Given the description of an element on the screen output the (x, y) to click on. 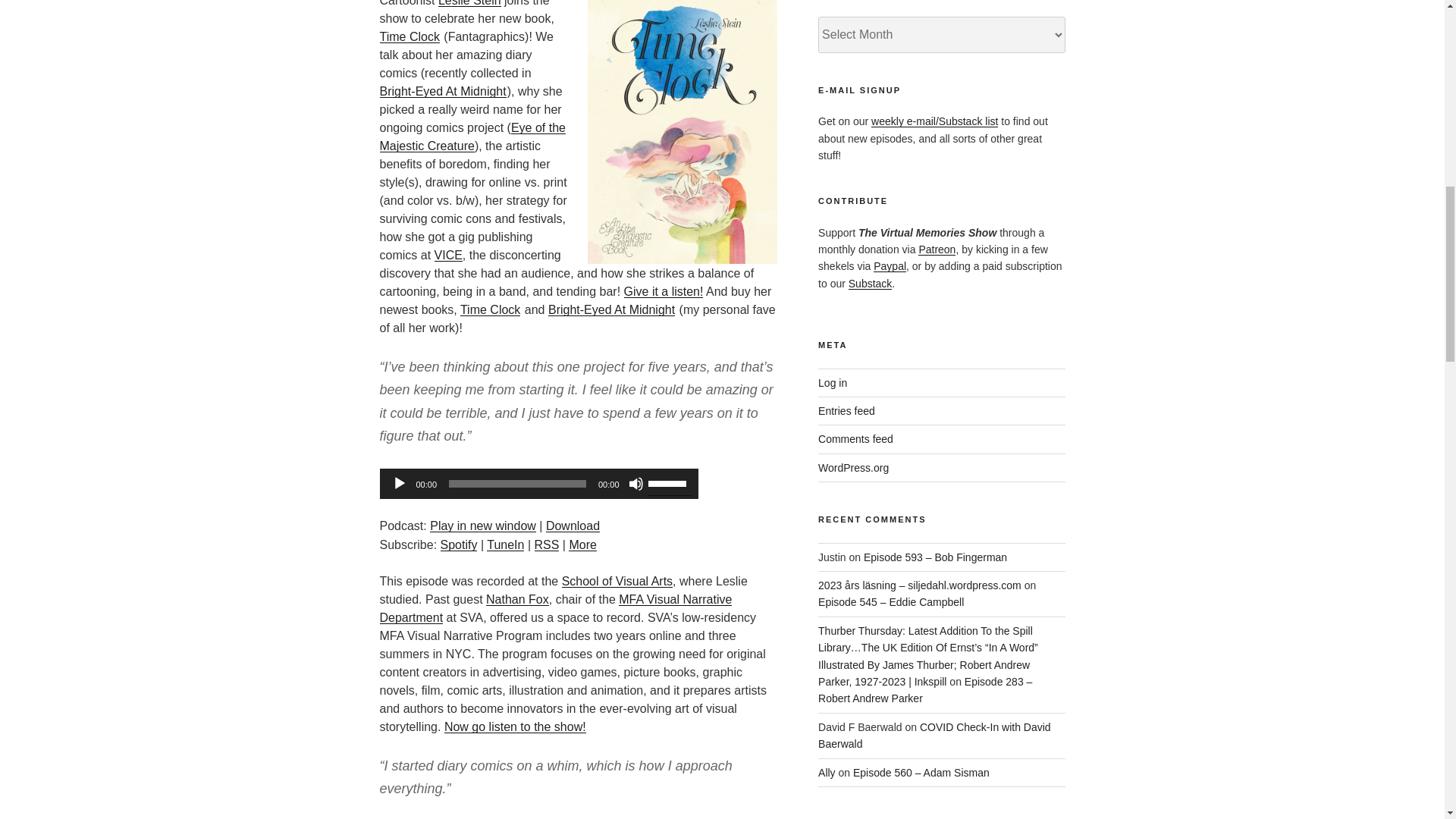
Play (398, 483)
More (582, 544)
Subscribe on Spotify (459, 544)
Subscribe on TuneIn (505, 544)
Play in new window (482, 525)
Subscribe via RSS (546, 544)
Download (572, 525)
Mute (635, 483)
